Given the description of an element on the screen output the (x, y) to click on. 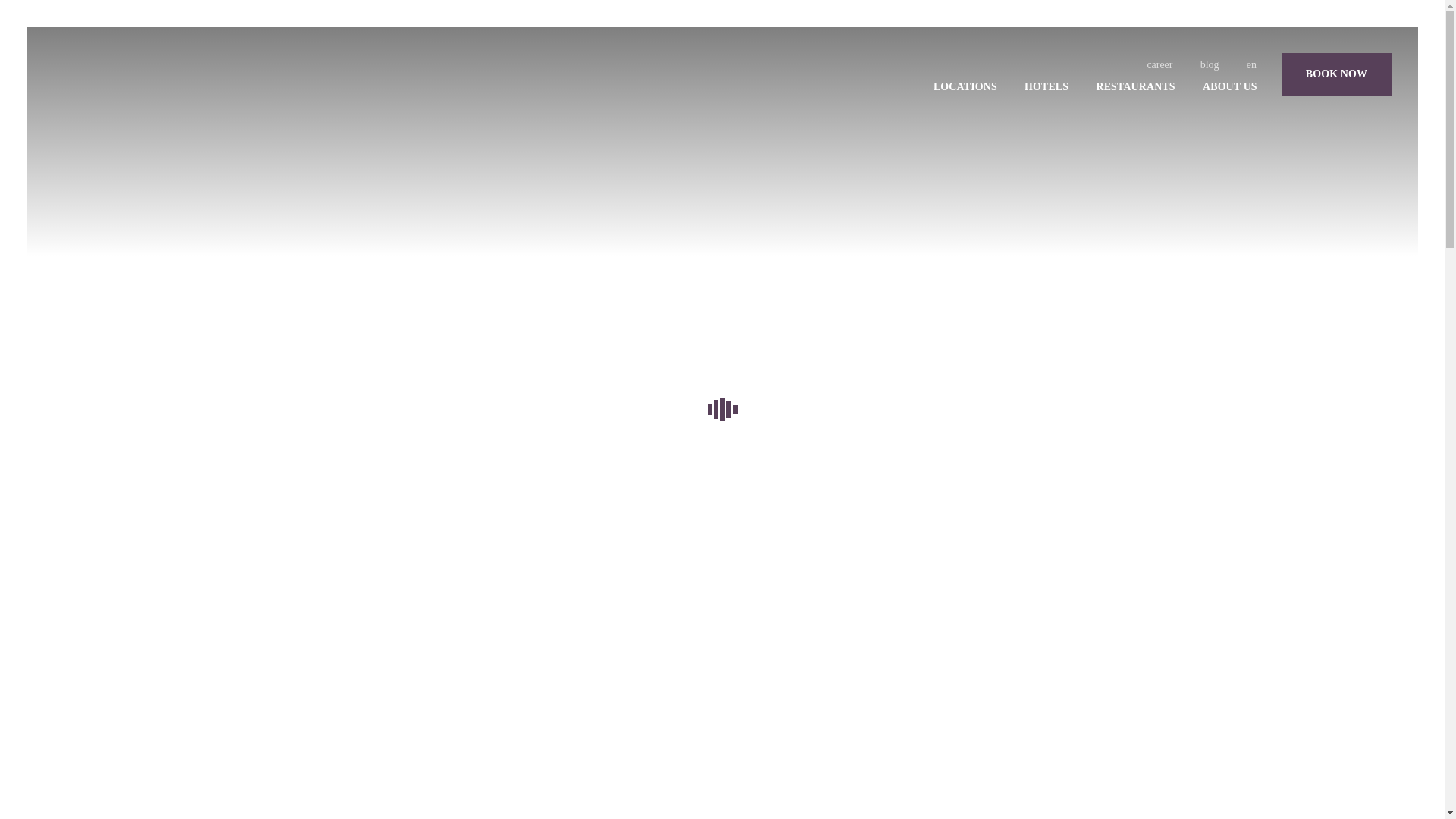
blog Element type: text (1209, 64)
ABOUT US Element type: text (1229, 86)
LOCATIONS Element type: text (965, 86)
career Element type: text (1159, 64)
HOTELS Element type: text (1046, 86)
BOOK NOW Element type: text (1336, 74)
RESTAURANTS Element type: text (1134, 86)
